Given the description of an element on the screen output the (x, y) to click on. 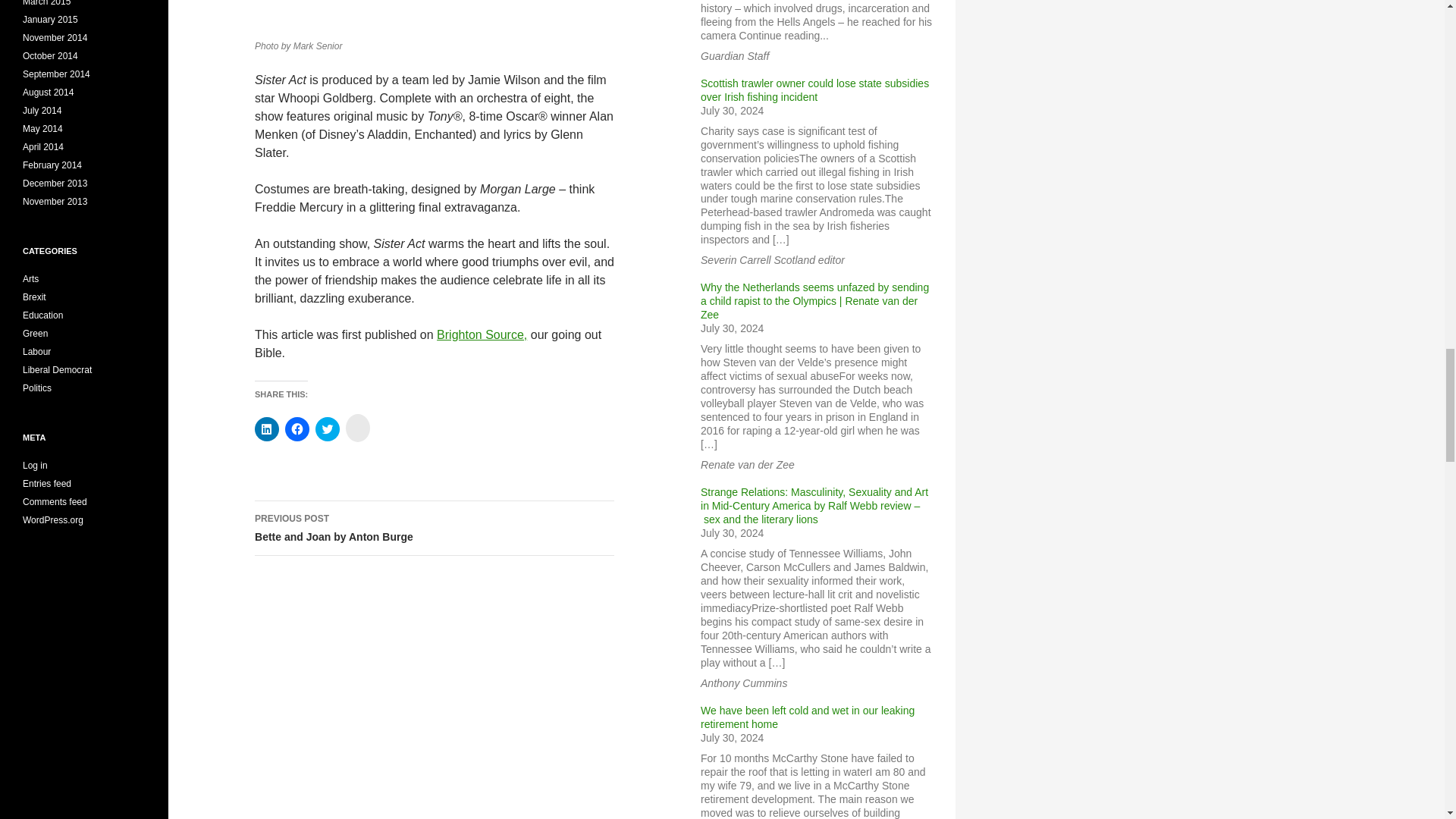
Click to share on LinkedIn (266, 428)
Click to share on Twitter (327, 428)
Click to share on Facebook (434, 528)
Brighton Source, (296, 428)
